Given the description of an element on the screen output the (x, y) to click on. 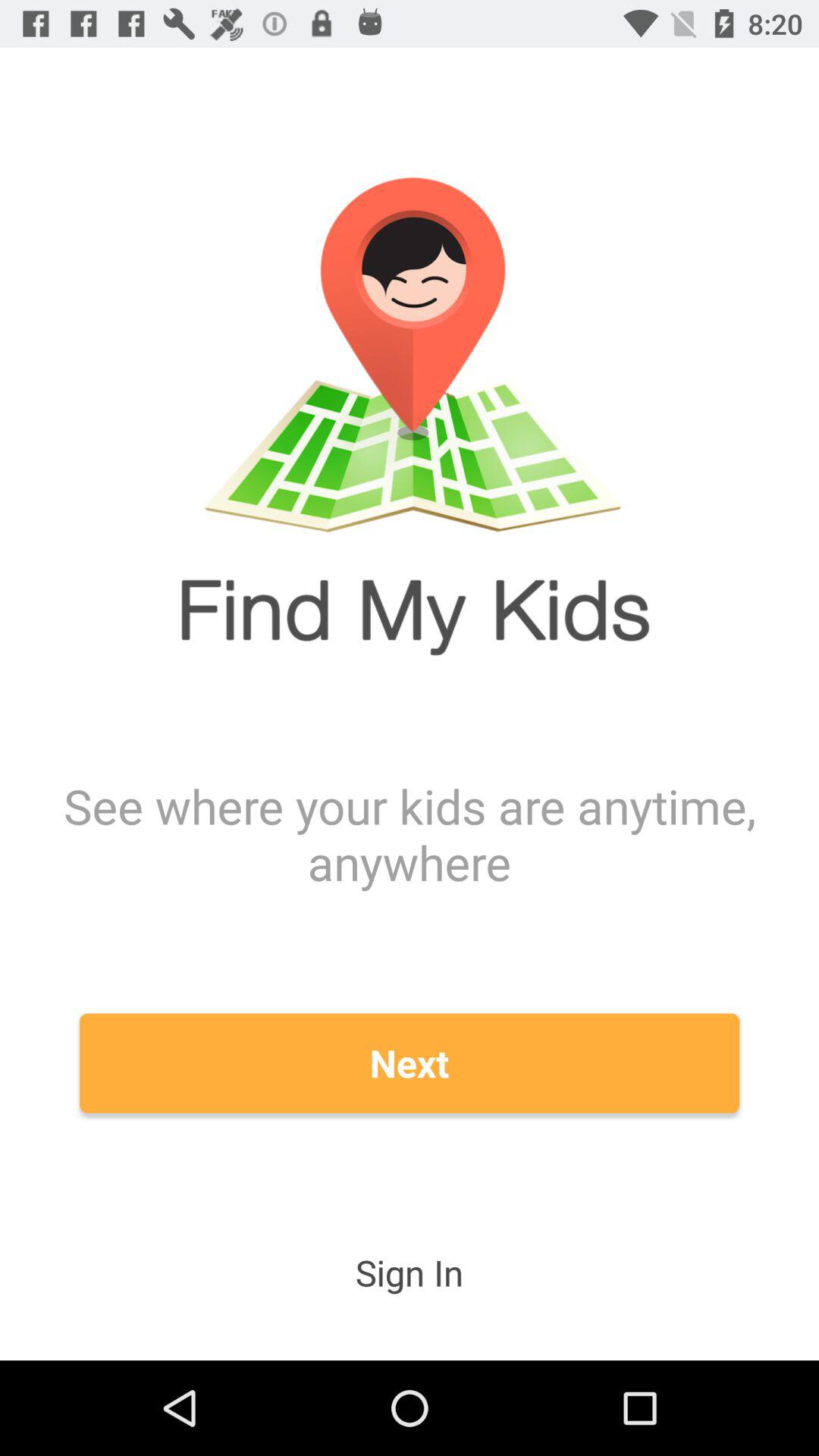
tap sign in item (409, 1272)
